Given the description of an element on the screen output the (x, y) to click on. 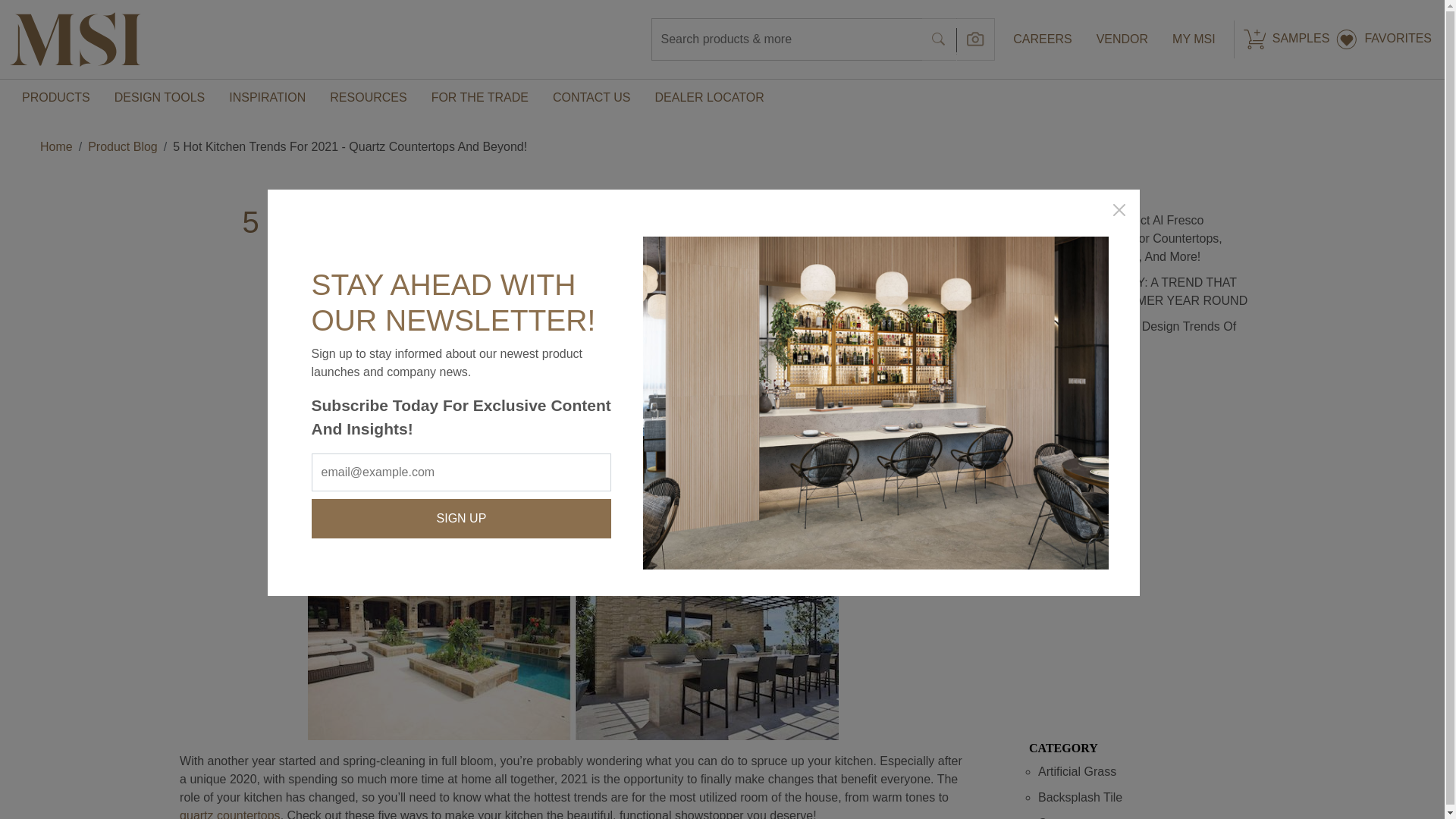
Msi Logo (75, 39)
